Given the description of an element on the screen output the (x, y) to click on. 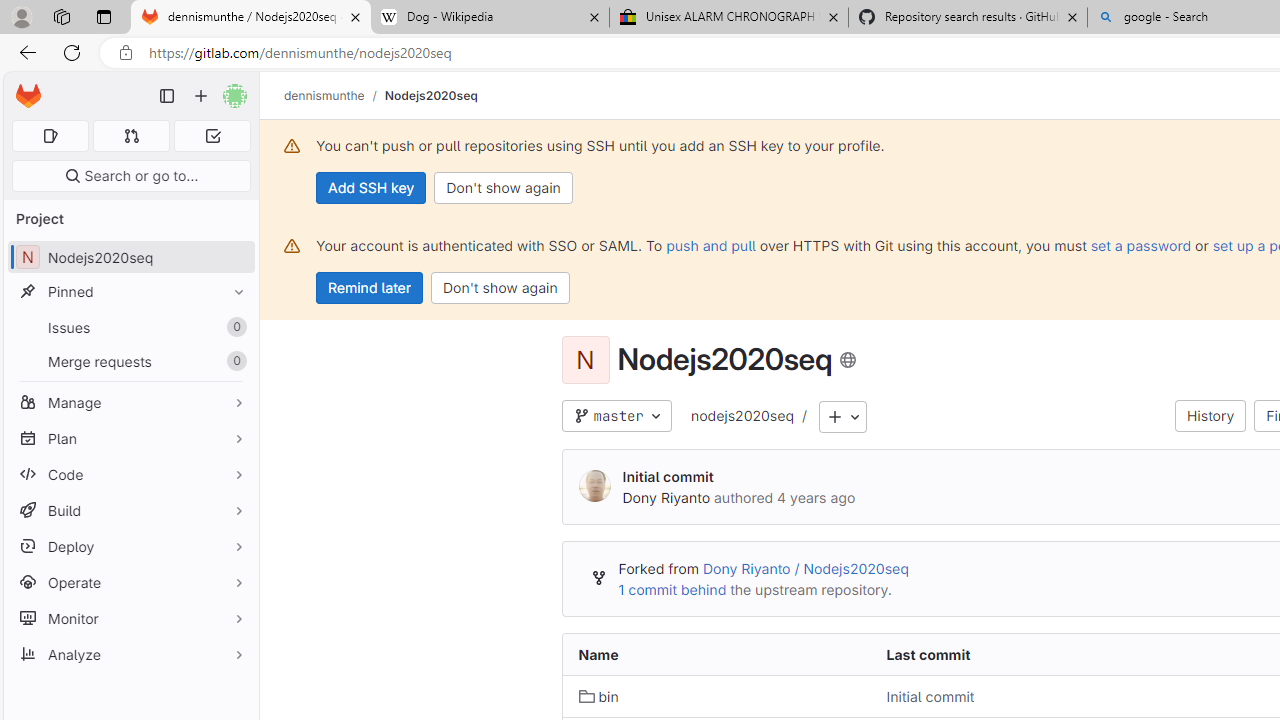
Initial commit (930, 696)
bin (715, 696)
Merge requests0 (130, 361)
Operate (130, 582)
Dony Riyanto (666, 497)
Nodejs2020seq (430, 95)
Issues 0 (130, 327)
Deploy (130, 546)
Last commit (1024, 655)
Assigned issues 0 (50, 136)
Don't show again (500, 287)
Code (130, 474)
Name (715, 655)
dennismunthe (324, 95)
